Given the description of an element on the screen output the (x, y) to click on. 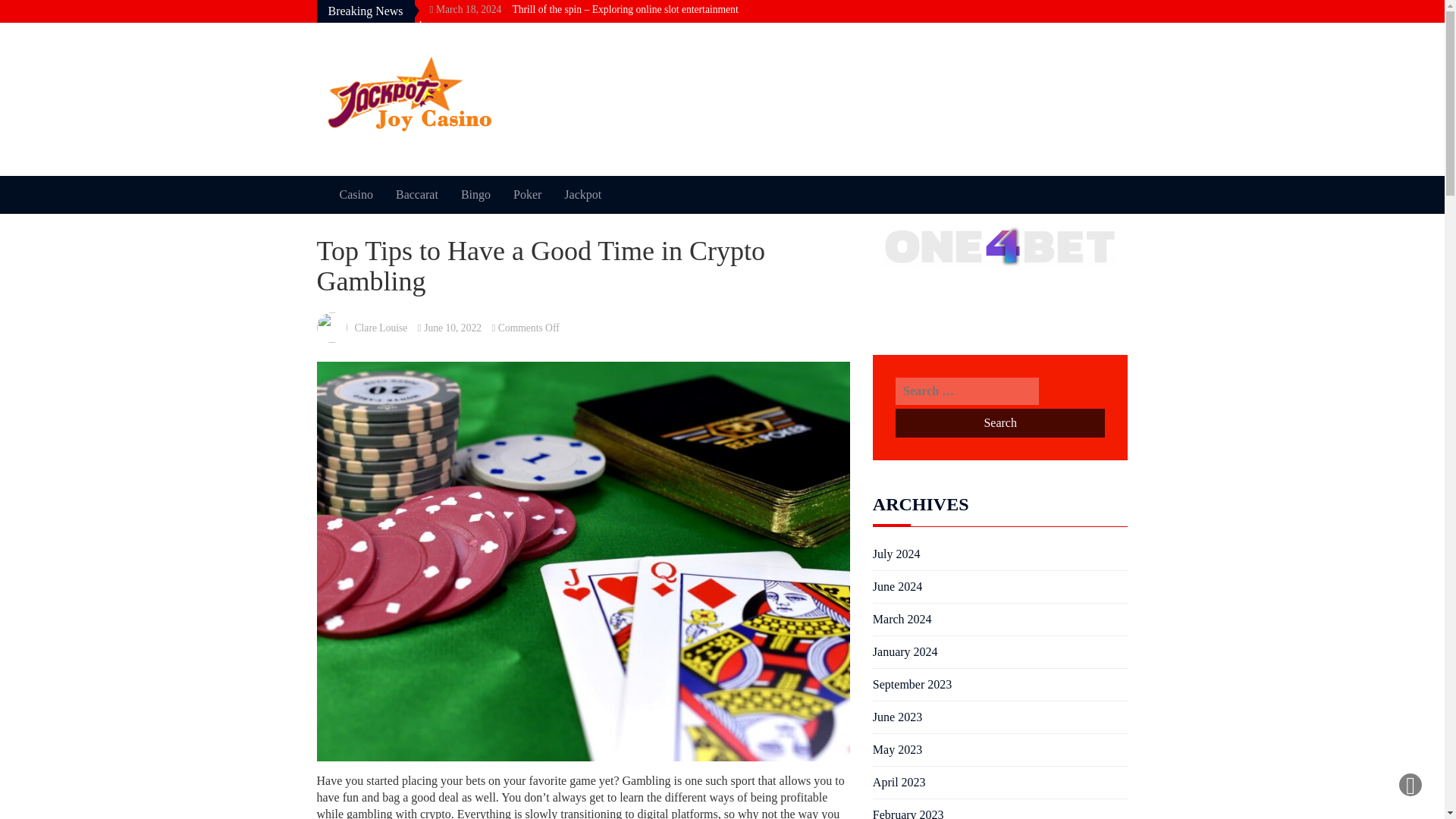
Baccarat (416, 194)
Bingo (475, 194)
January 2024 (904, 651)
Casino (355, 194)
June 2023 (896, 717)
Clare Louise (381, 327)
April 2023 (899, 782)
Bingo (475, 194)
Baccarat (416, 194)
February 2023 (907, 812)
Search (1000, 422)
Casino (355, 194)
May 2023 (896, 750)
July 2024 (896, 554)
Jackpot (582, 194)
